Given the description of an element on the screen output the (x, y) to click on. 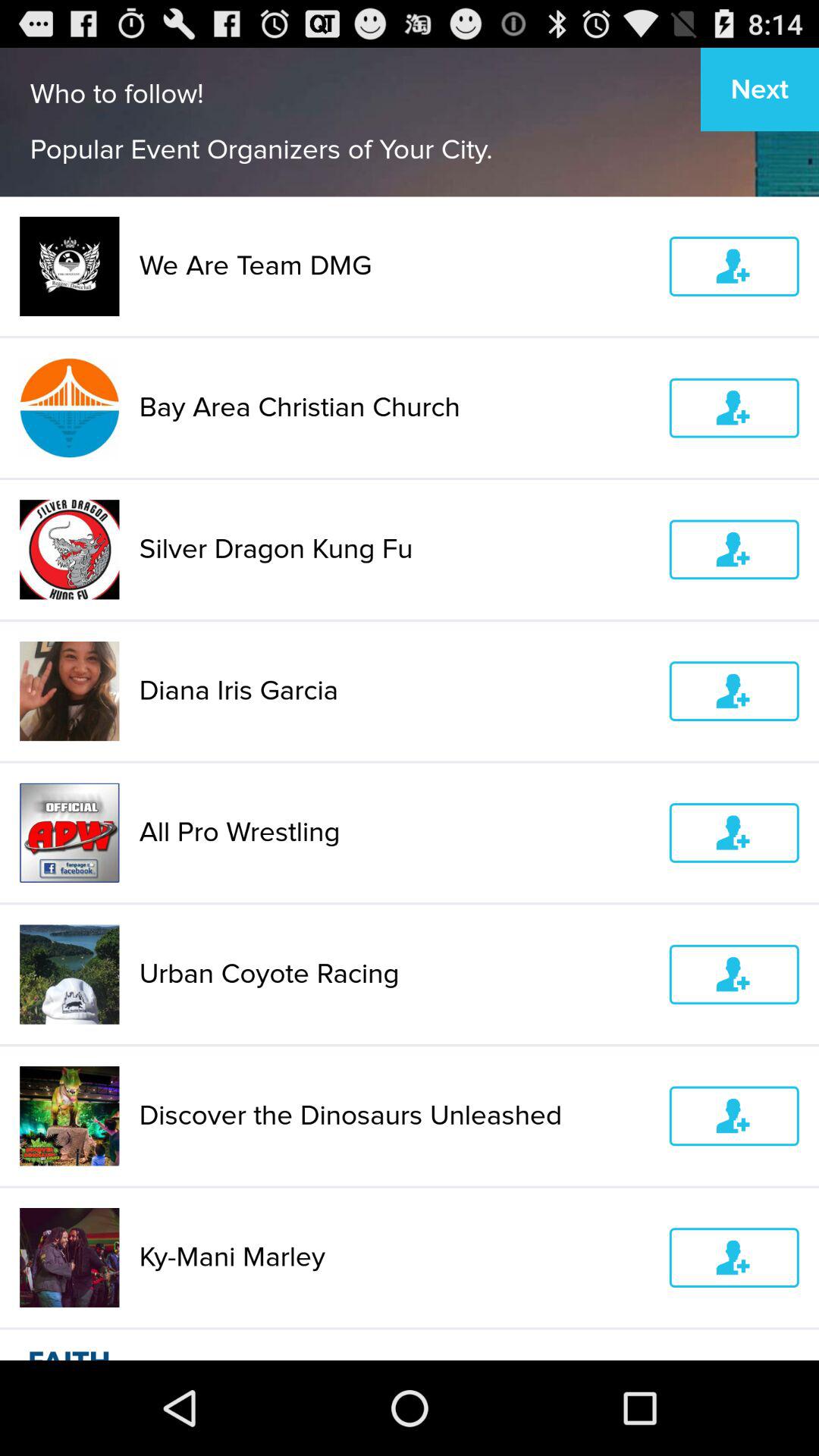
turn off icon above urban coyote racing (394, 832)
